Given the description of an element on the screen output the (x, y) to click on. 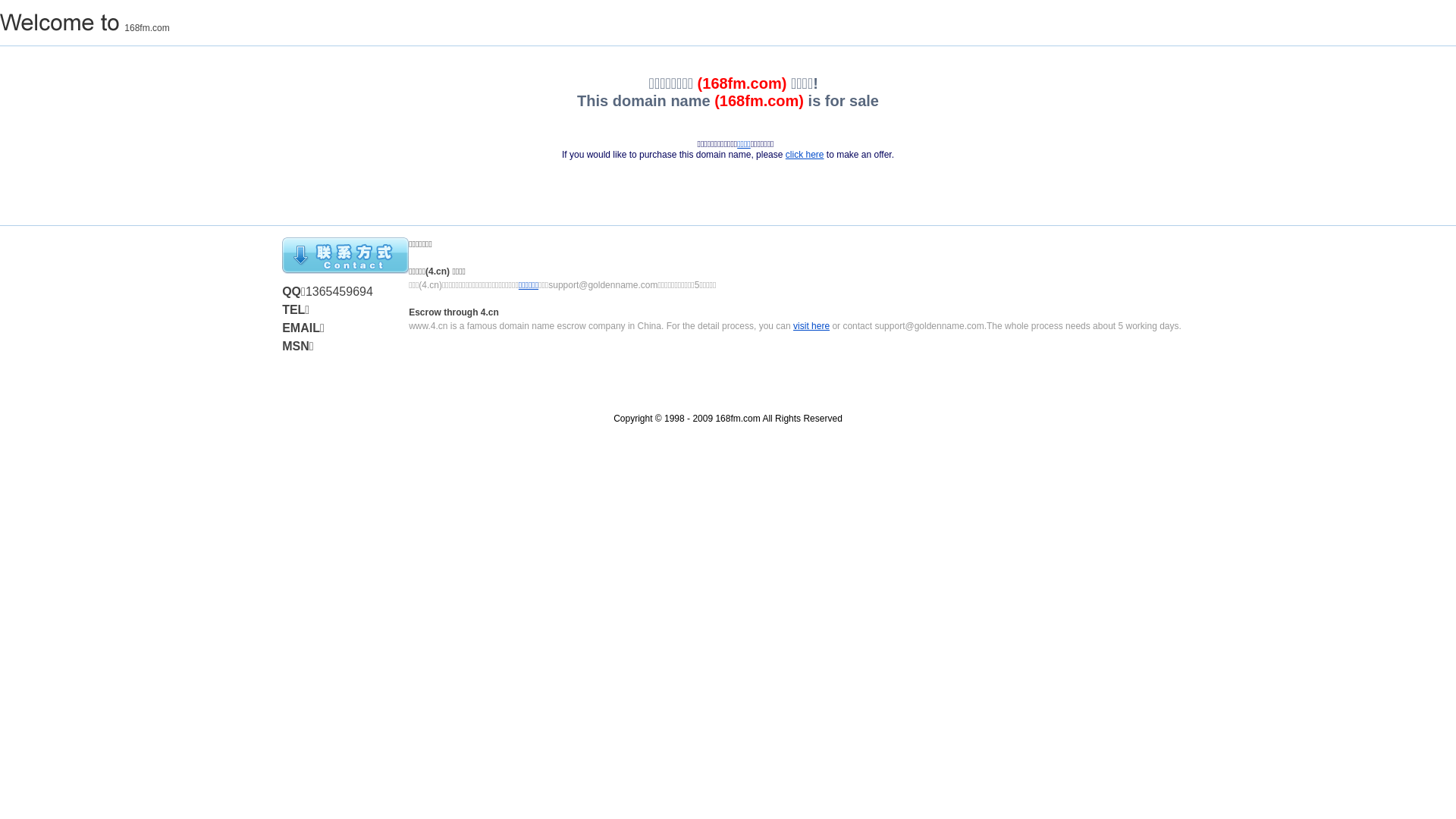
click here Element type: text (804, 154)
visit here Element type: text (811, 325)
